Given the description of an element on the screen output the (x, y) to click on. 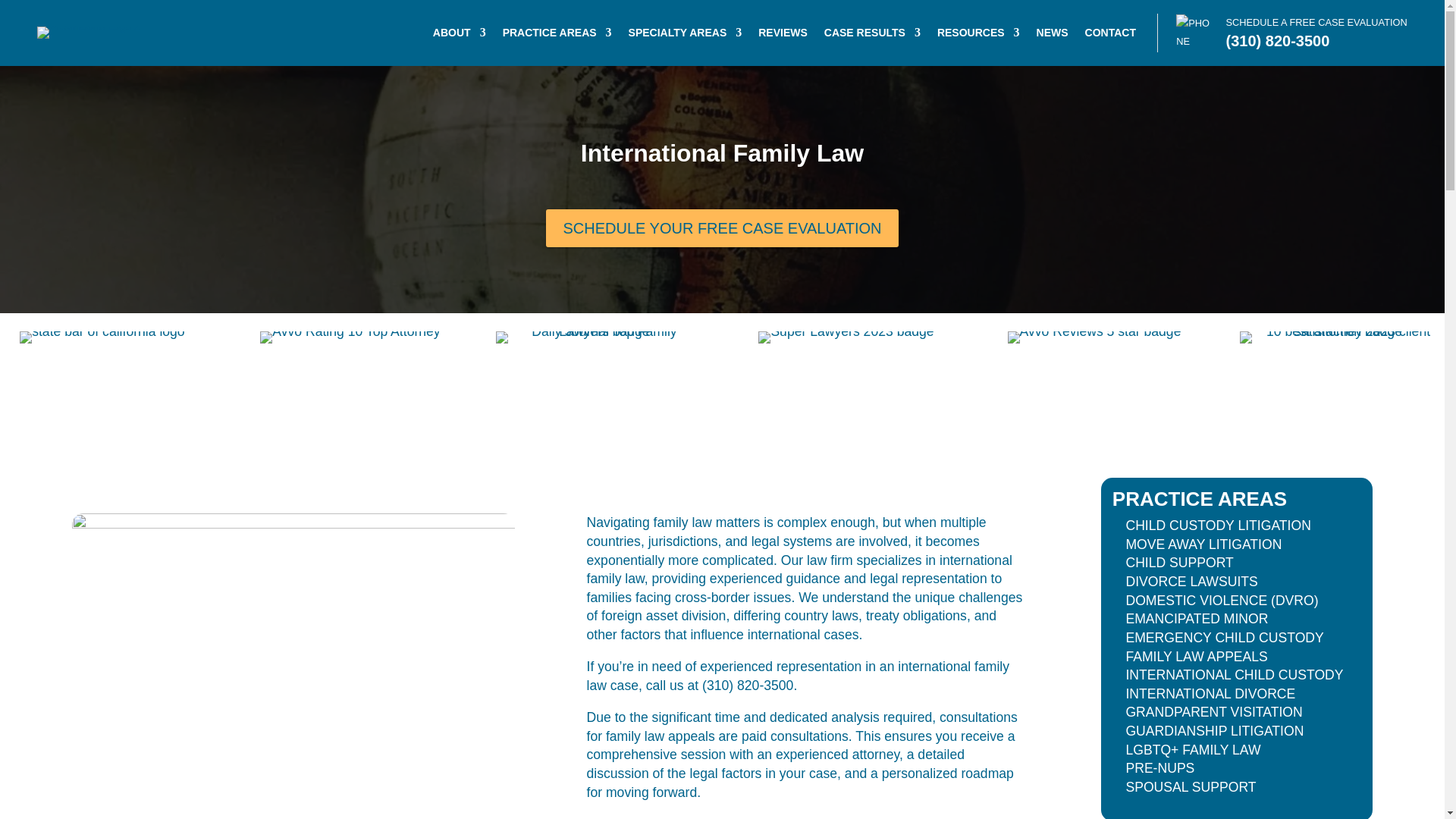
avvo-rating-10-top-attorney (349, 376)
SPECIALTY AREAS (685, 35)
PRACTICE AREAS (556, 35)
REVIEWS (783, 35)
Super-Lawyers-badge-l-w-2023 (845, 376)
CASE RESULTS (872, 35)
NEWS (1052, 35)
state-bar-california (102, 376)
provinziano-logo-2 (88, 32)
international-divorce-preview (293, 637)
CONTACT (1109, 35)
RESOURCES (978, 35)
SCHEDULE YOUR FREE CASE EVALUATION (722, 228)
ABOUT (459, 35)
